Given the description of an element on the screen output the (x, y) to click on. 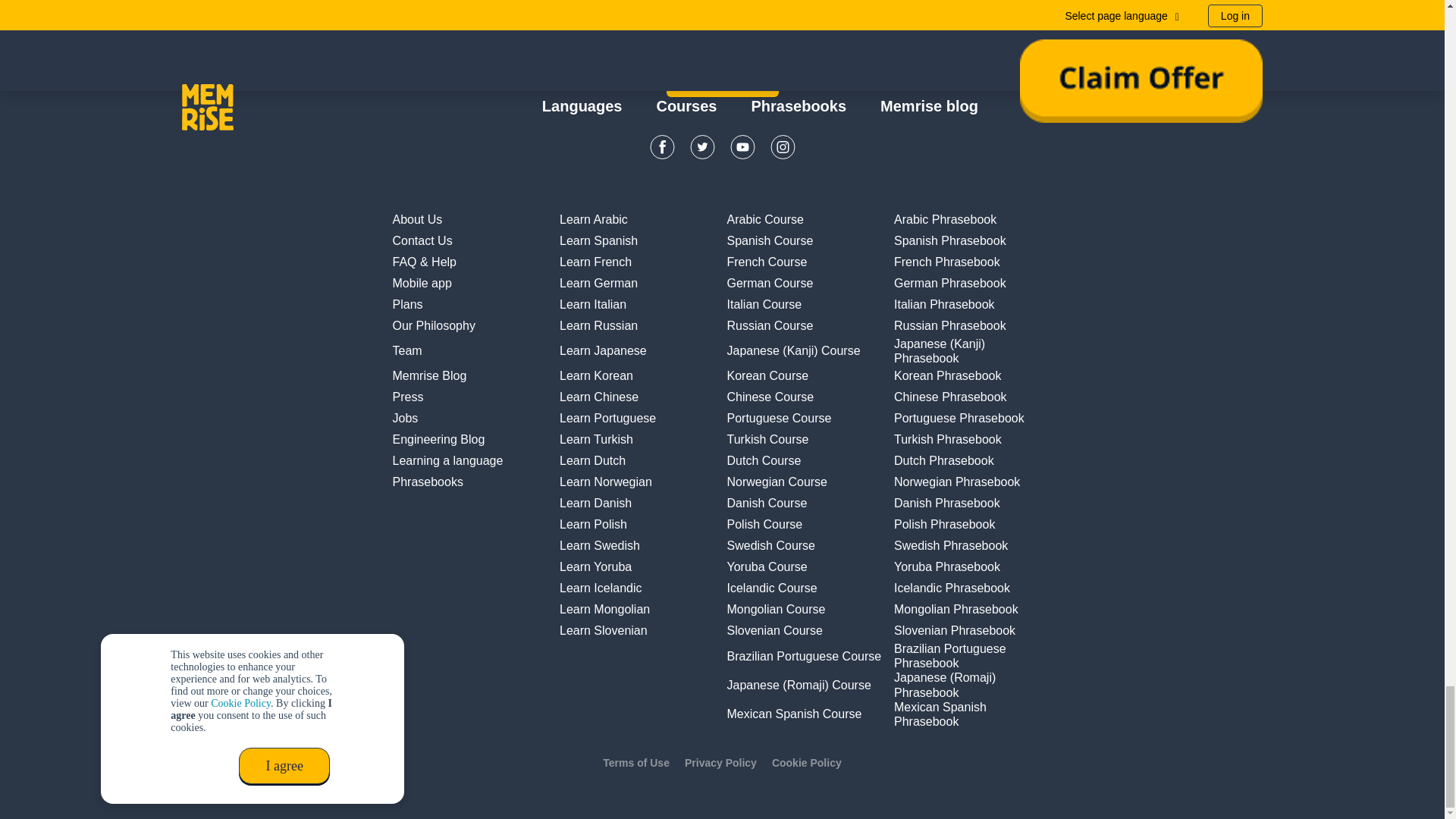
Start learning (721, 83)
